Given the description of an element on the screen output the (x, y) to click on. 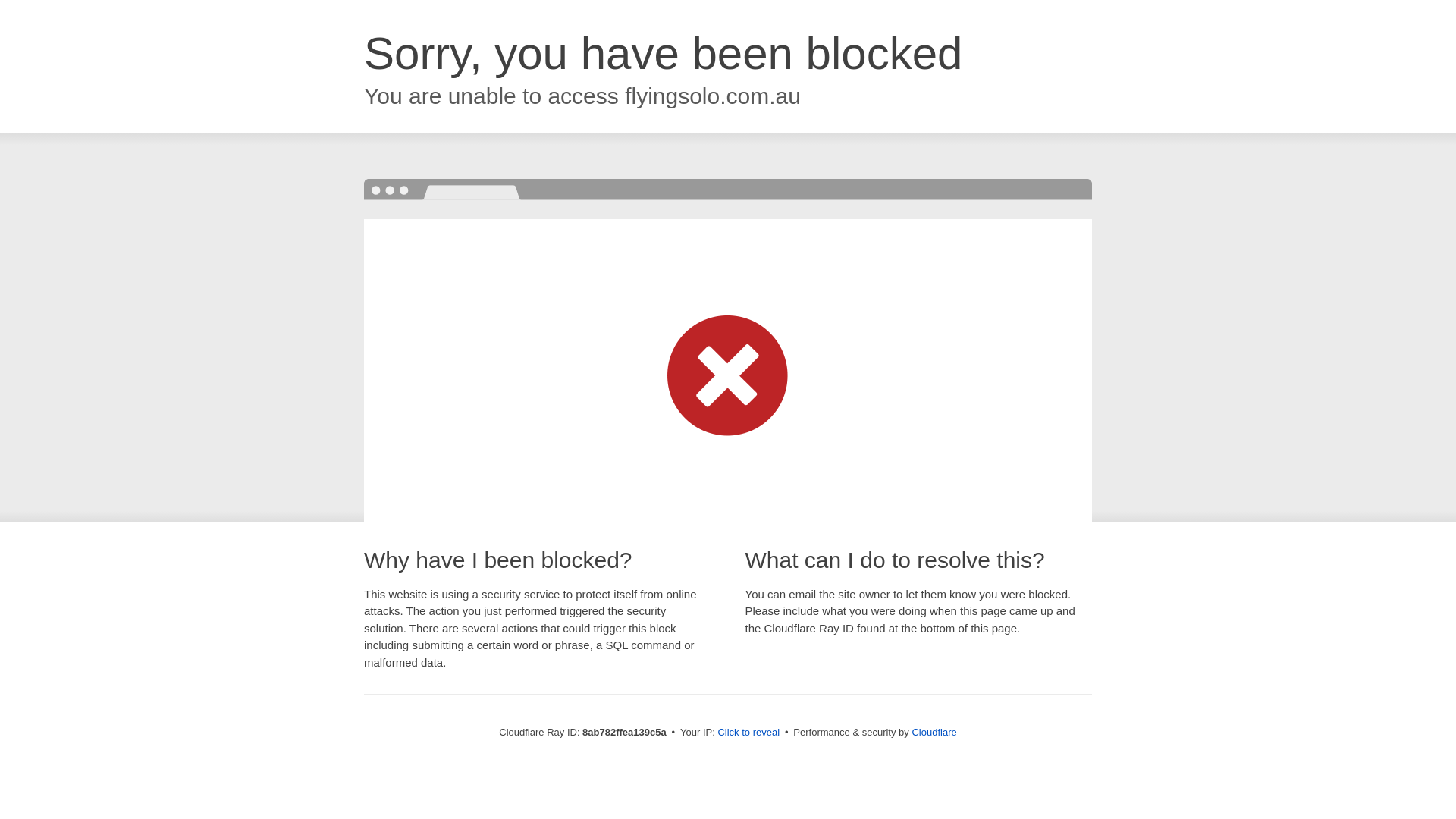
Cloudflare (933, 731)
Click to reveal (747, 732)
